Given the description of an element on the screen output the (x, y) to click on. 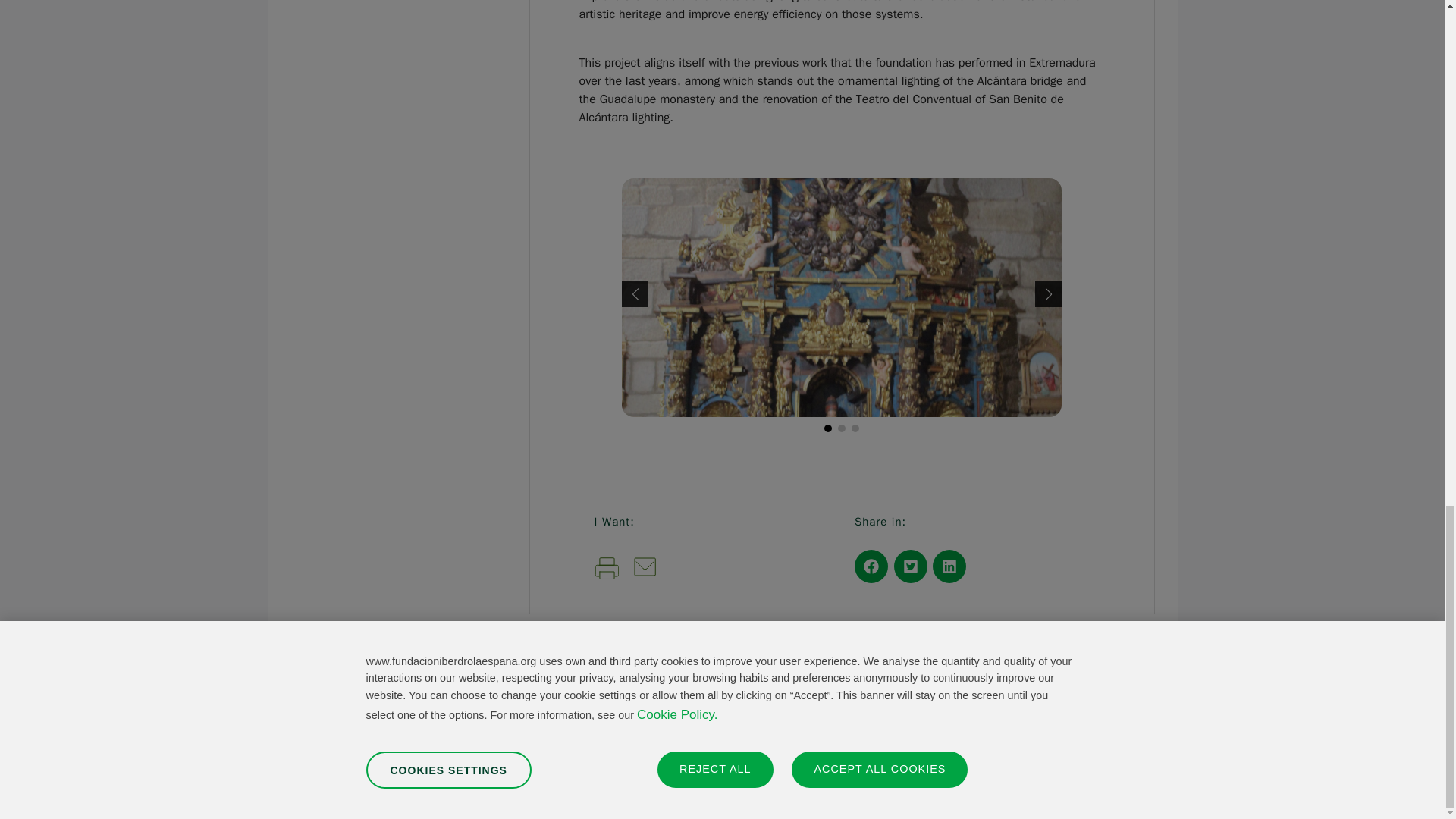
Print (606, 569)
Enviar por email (644, 572)
